Given the description of an element on the screen output the (x, y) to click on. 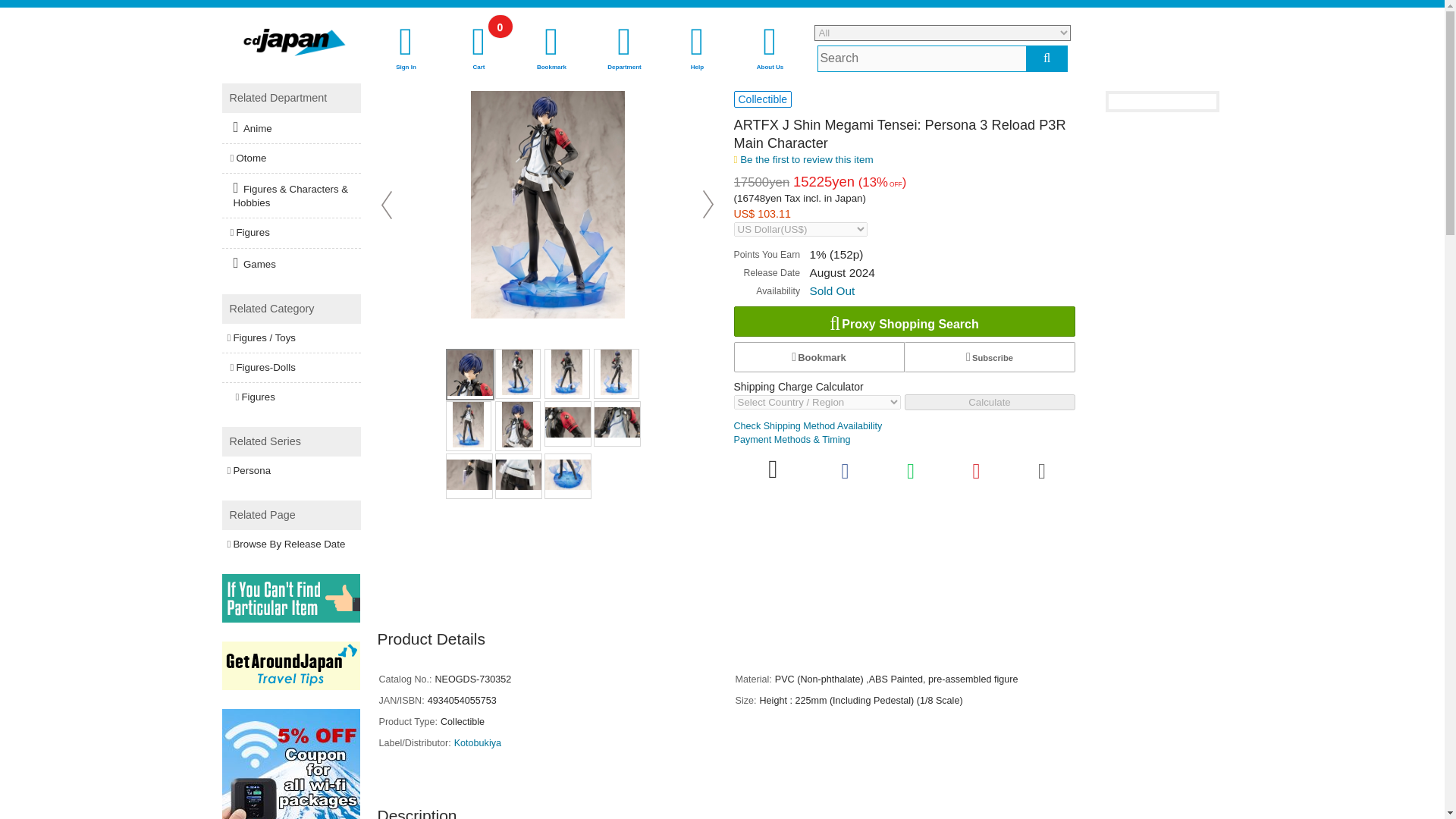
Bookmark (551, 48)
Sign In (405, 48)
Department (624, 48)
About Us (769, 48)
Help (478, 48)
